Given the description of an element on the screen output the (x, y) to click on. 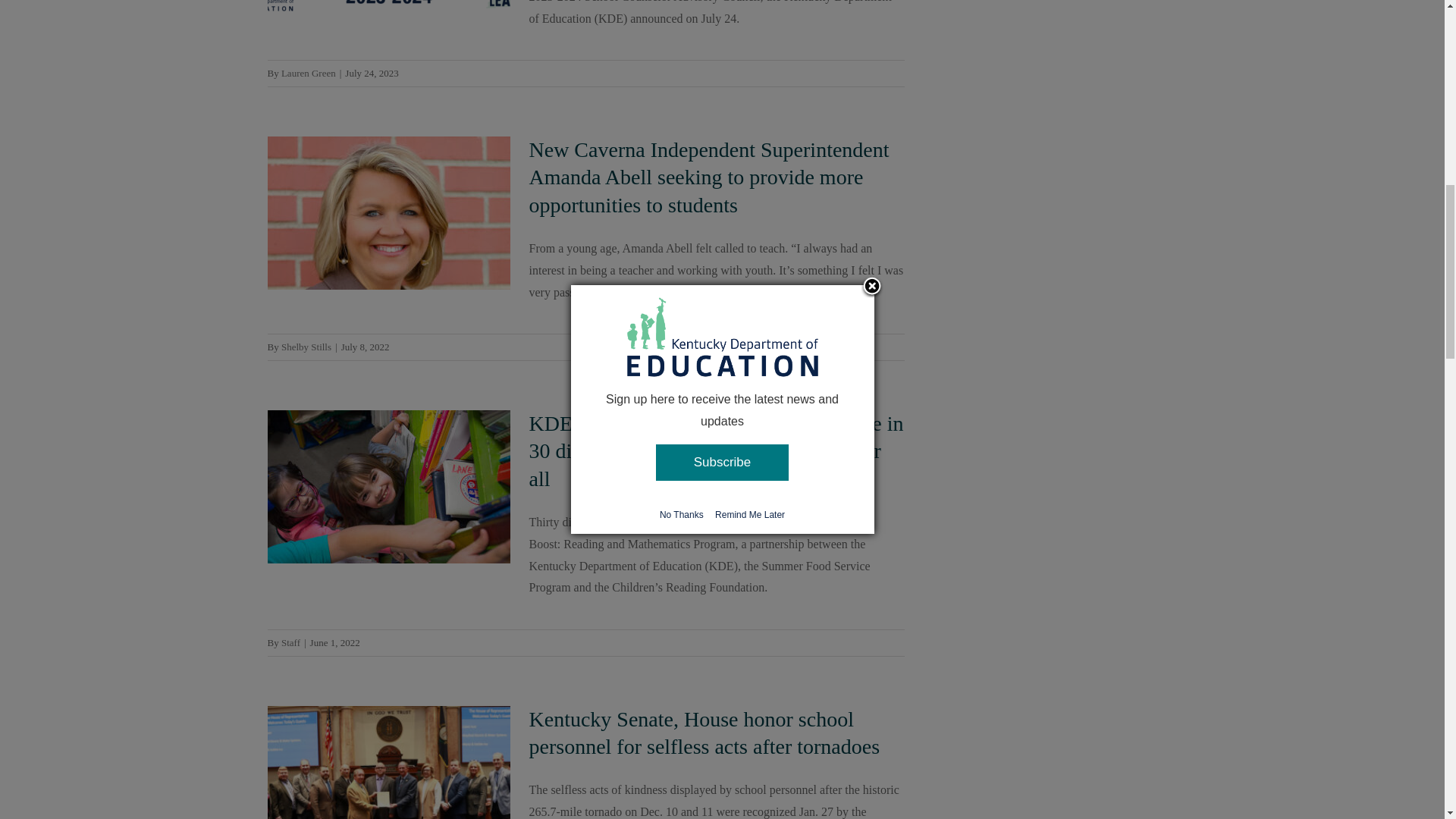
Posts by Staff (290, 642)
Posts by Shelby Stills (306, 346)
Posts by Lauren Green (308, 72)
